Given the description of an element on the screen output the (x, y) to click on. 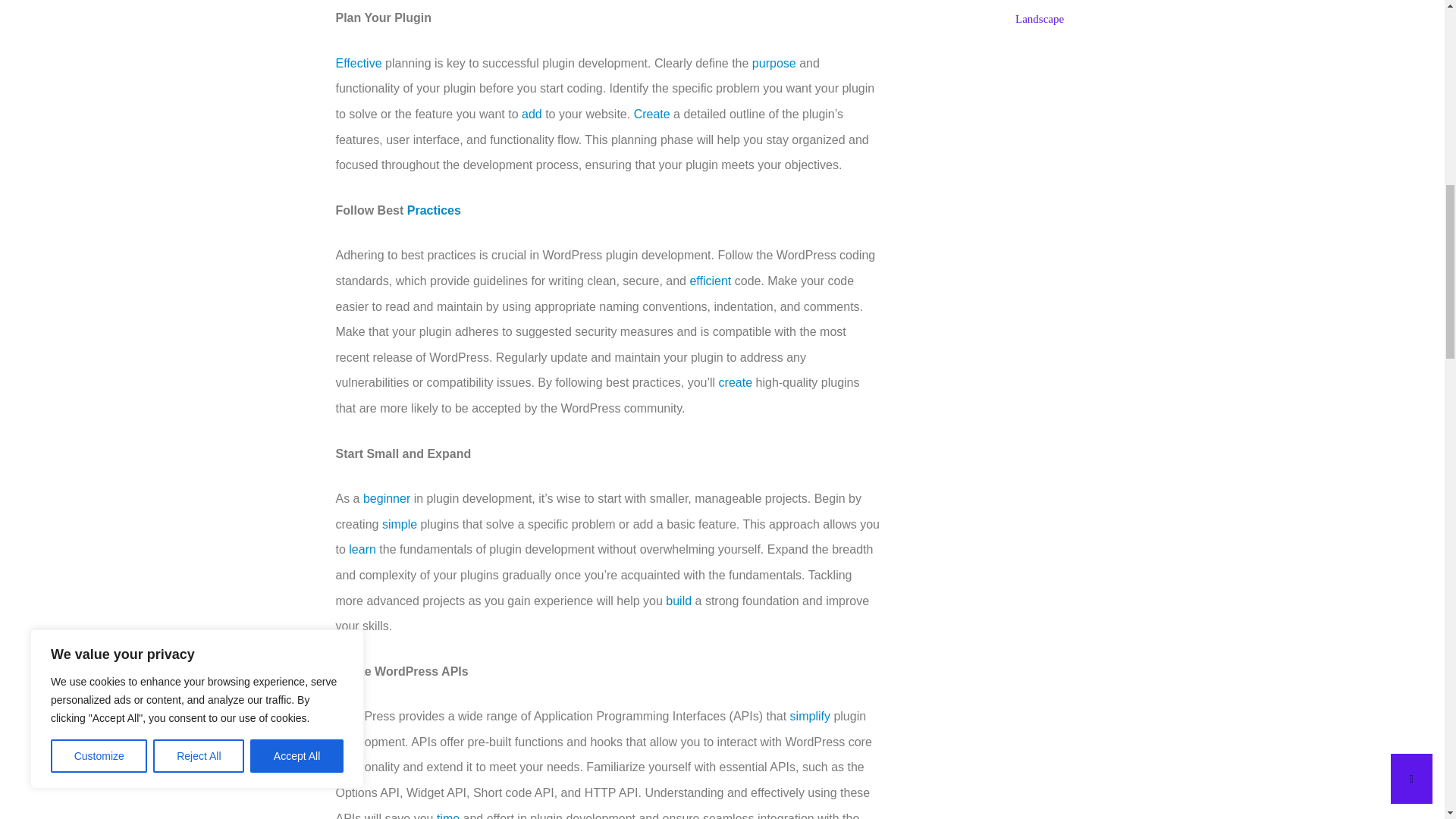
add (531, 113)
efficient (709, 280)
purpose (774, 62)
Practices (434, 210)
simple (398, 523)
learn (362, 549)
Create (651, 113)
Effective (357, 62)
beginner (386, 498)
create (735, 382)
